Given the description of an element on the screen output the (x, y) to click on. 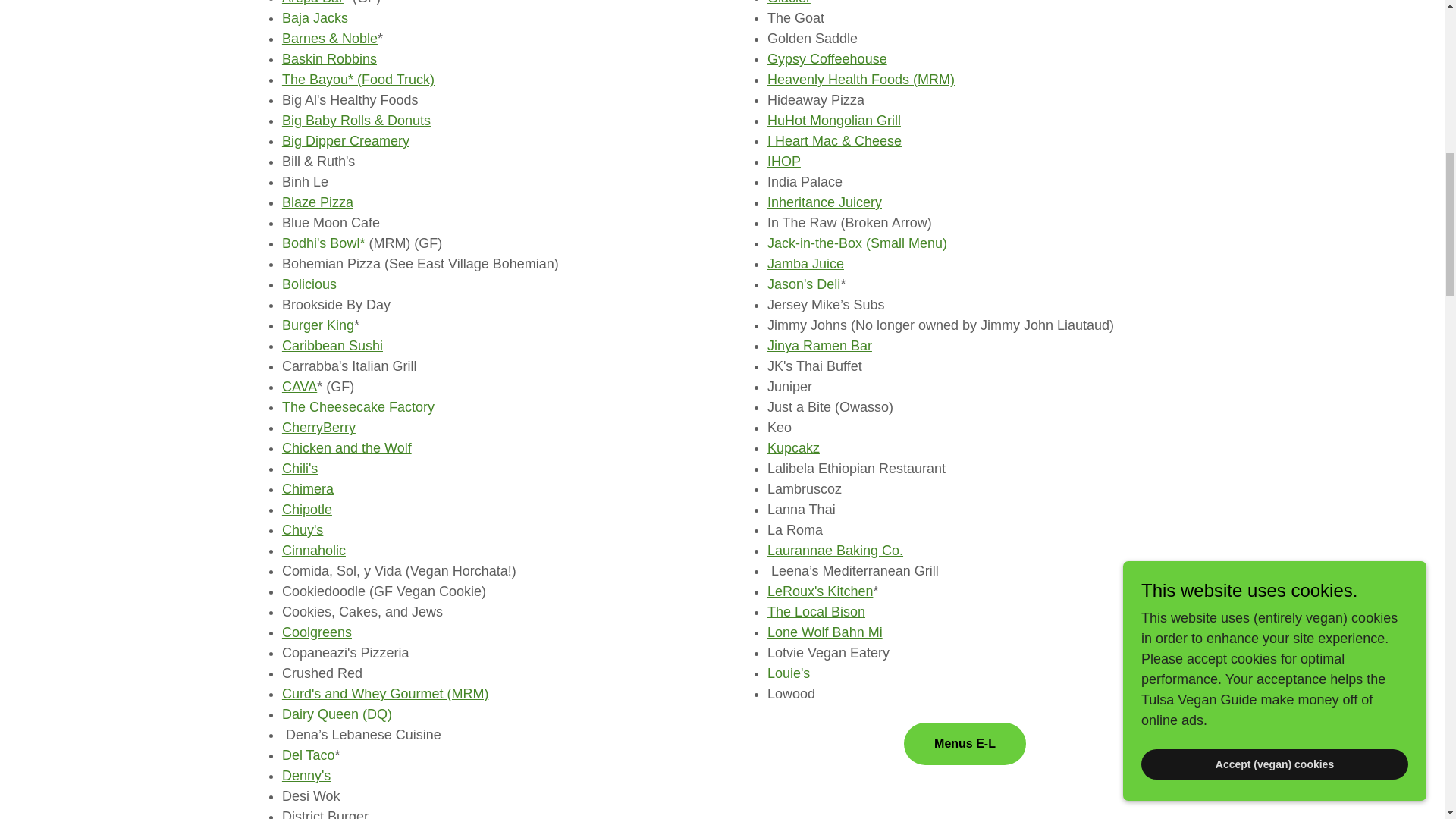
Burger King (317, 324)
Baskin Robbins (329, 58)
Arepa Bar (312, 2)
Baja Jacks (314, 17)
Big Dipper Creamery (345, 140)
Bolicious (309, 283)
Blaze Pizza (317, 201)
